Given the description of an element on the screen output the (x, y) to click on. 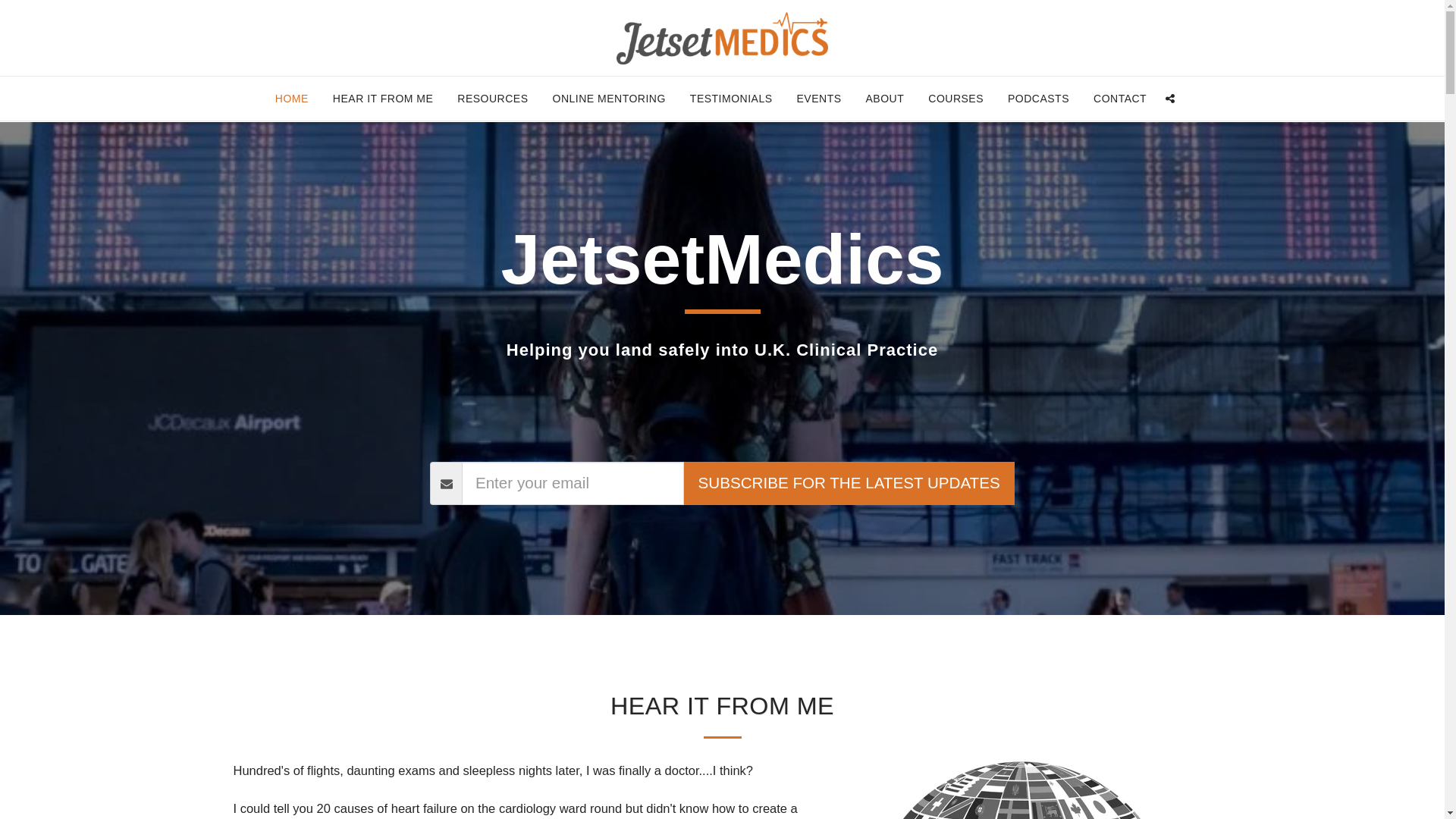
SUBSCRIBE FOR THE LATEST UPDATES (847, 483)
ABOUT (884, 97)
EVENTS (819, 97)
RESOURCES (491, 97)
PODCASTS (1037, 97)
CONTACT (1119, 97)
COURSES (955, 97)
PODCASTS (1037, 97)
HEAR IT FROM ME (382, 97)
CONTACT (1119, 97)
TESTIMONIALS (731, 97)
RESOURCES (491, 97)
ONLINE MENTORING (609, 97)
ONLINE MENTORING (609, 97)
